Given the description of an element on the screen output the (x, y) to click on. 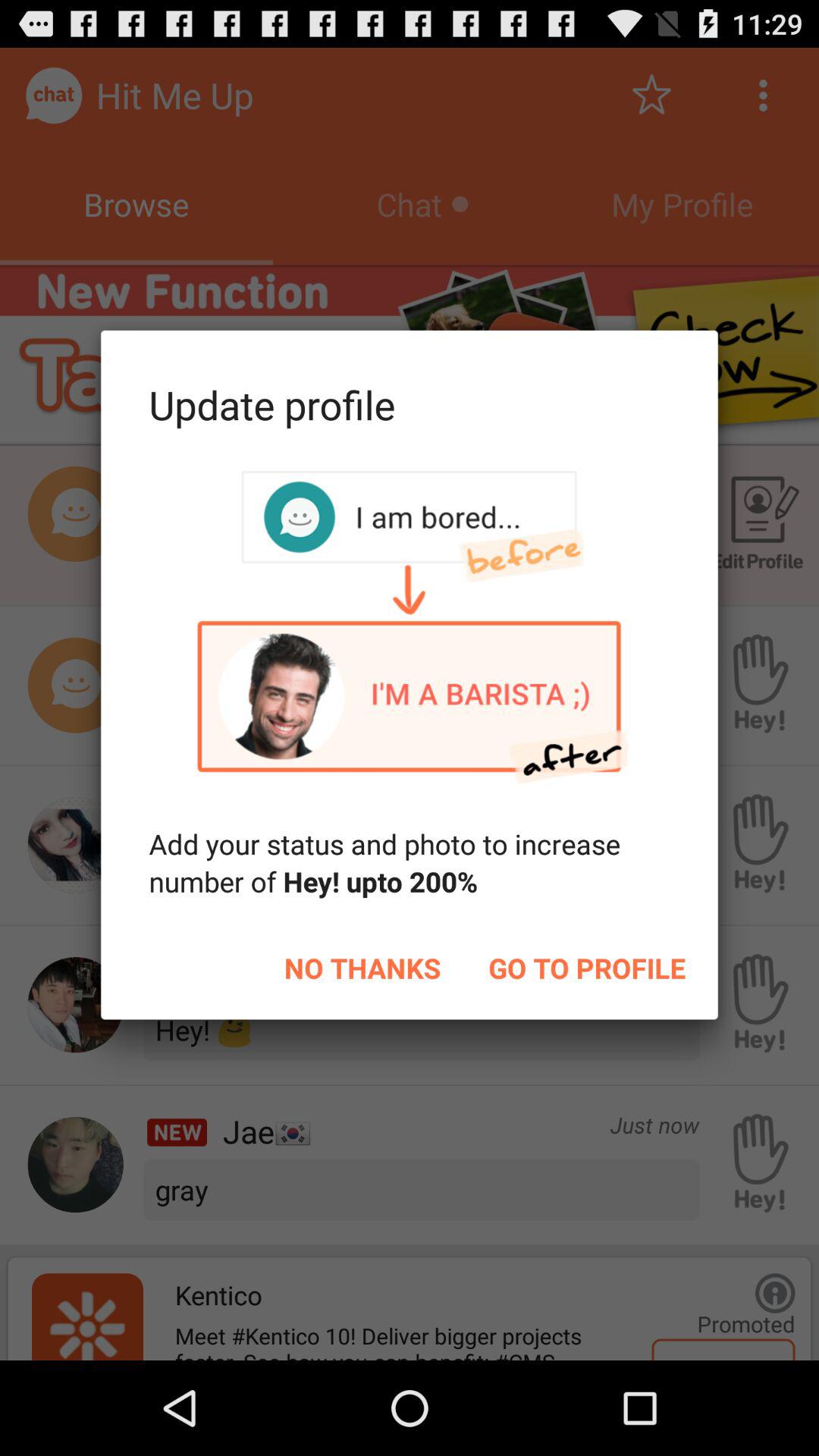
swipe until go to profile (586, 967)
